Given the description of an element on the screen output the (x, y) to click on. 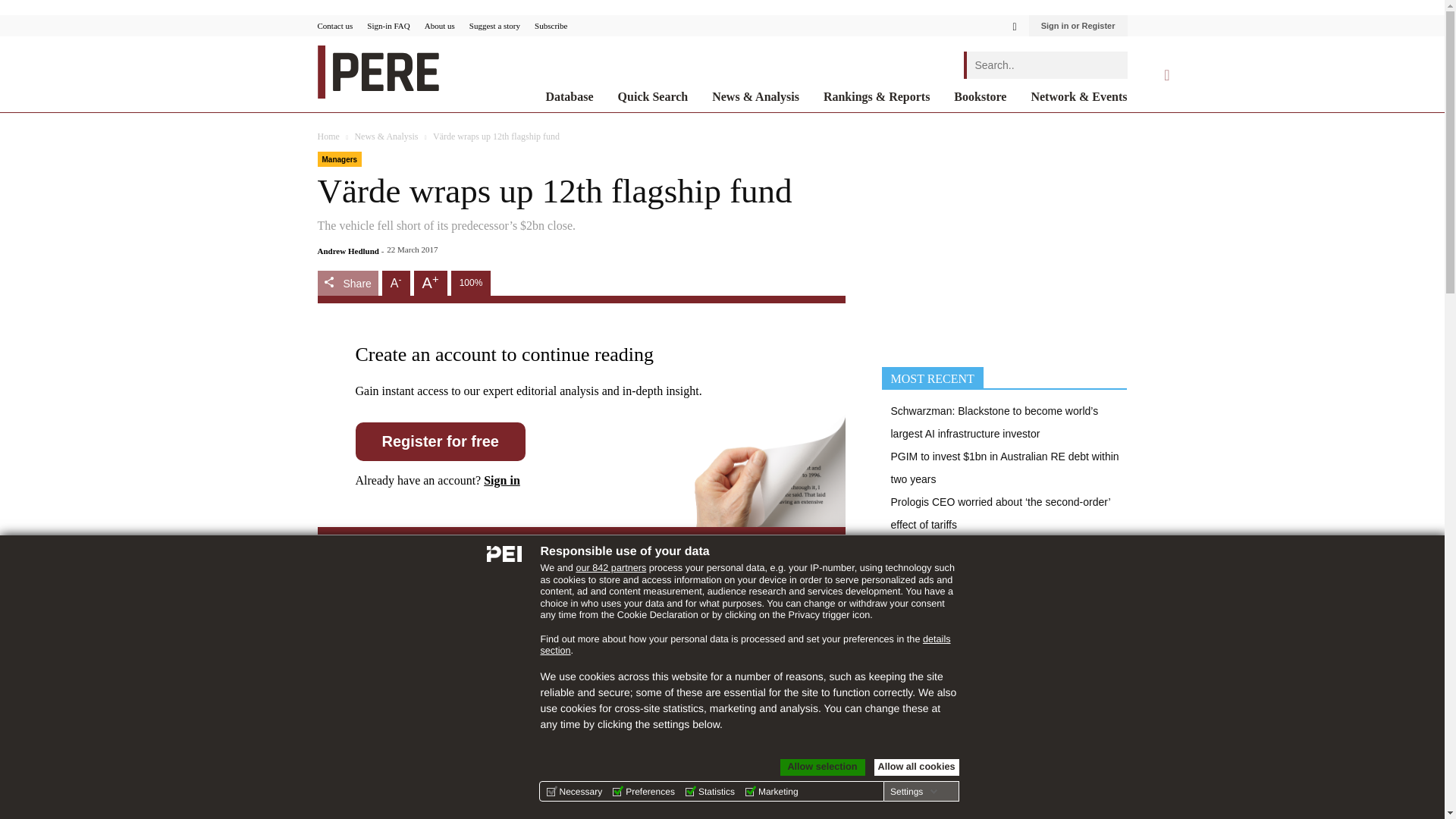
our 842 partners (610, 567)
details section (745, 644)
Allow all cookies (915, 767)
Settings (913, 791)
Allow selection (821, 767)
